Given the description of an element on the screen output the (x, y) to click on. 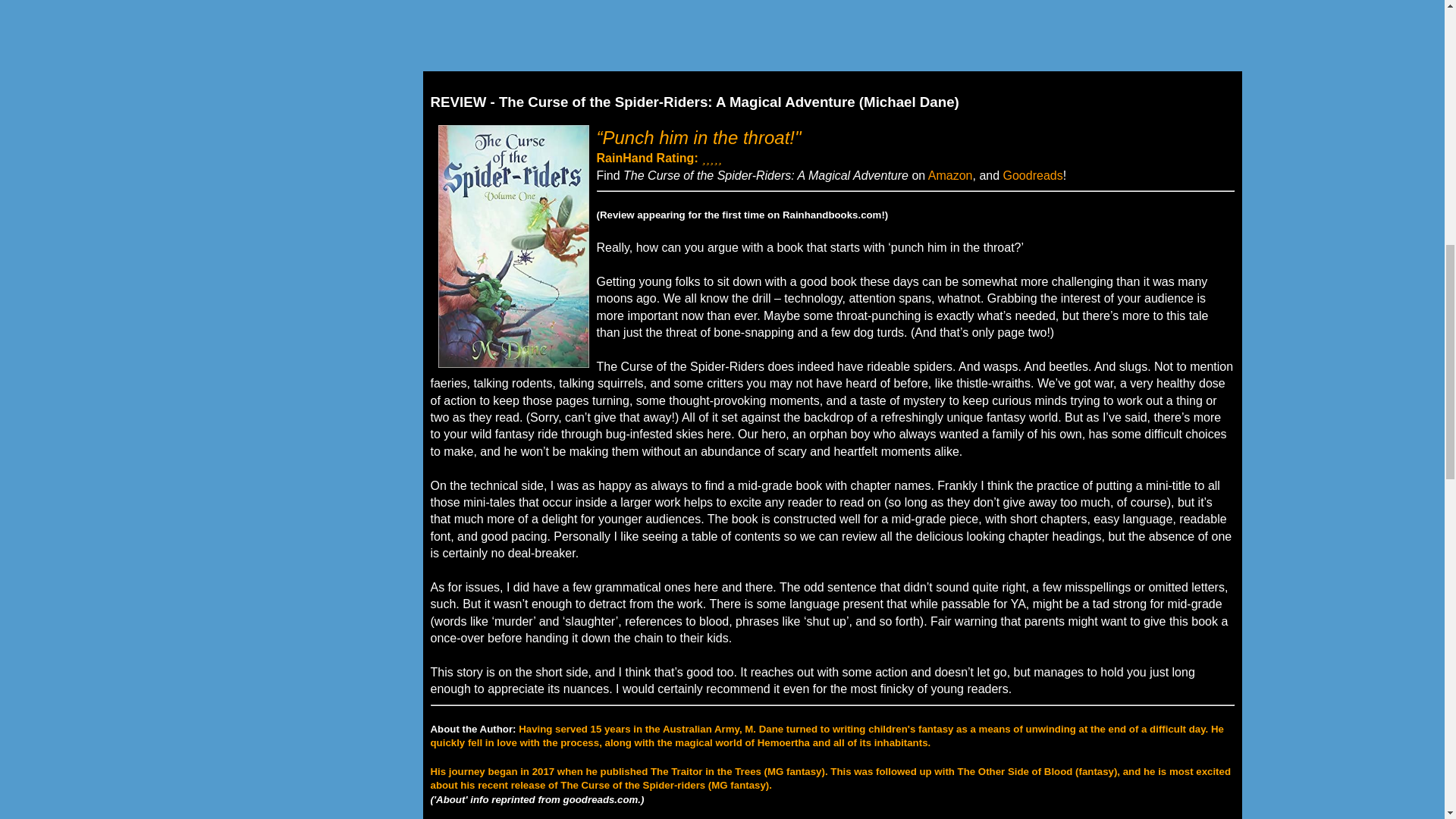
Submissions (315, 22)
Goodreads (1032, 174)
Amazon (950, 174)
